Given the description of an element on the screen output the (x, y) to click on. 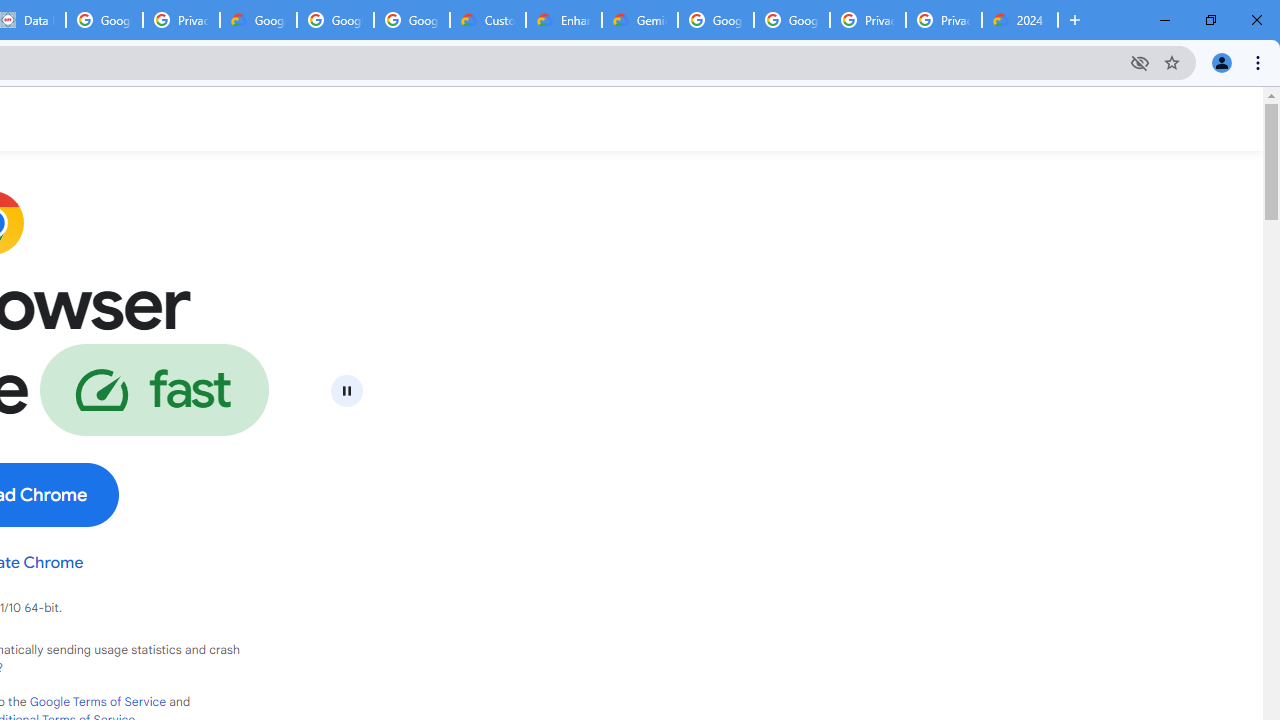
Google Cloud Terms Directory | Google Cloud (258, 20)
